Given the description of an element on the screen output the (x, y) to click on. 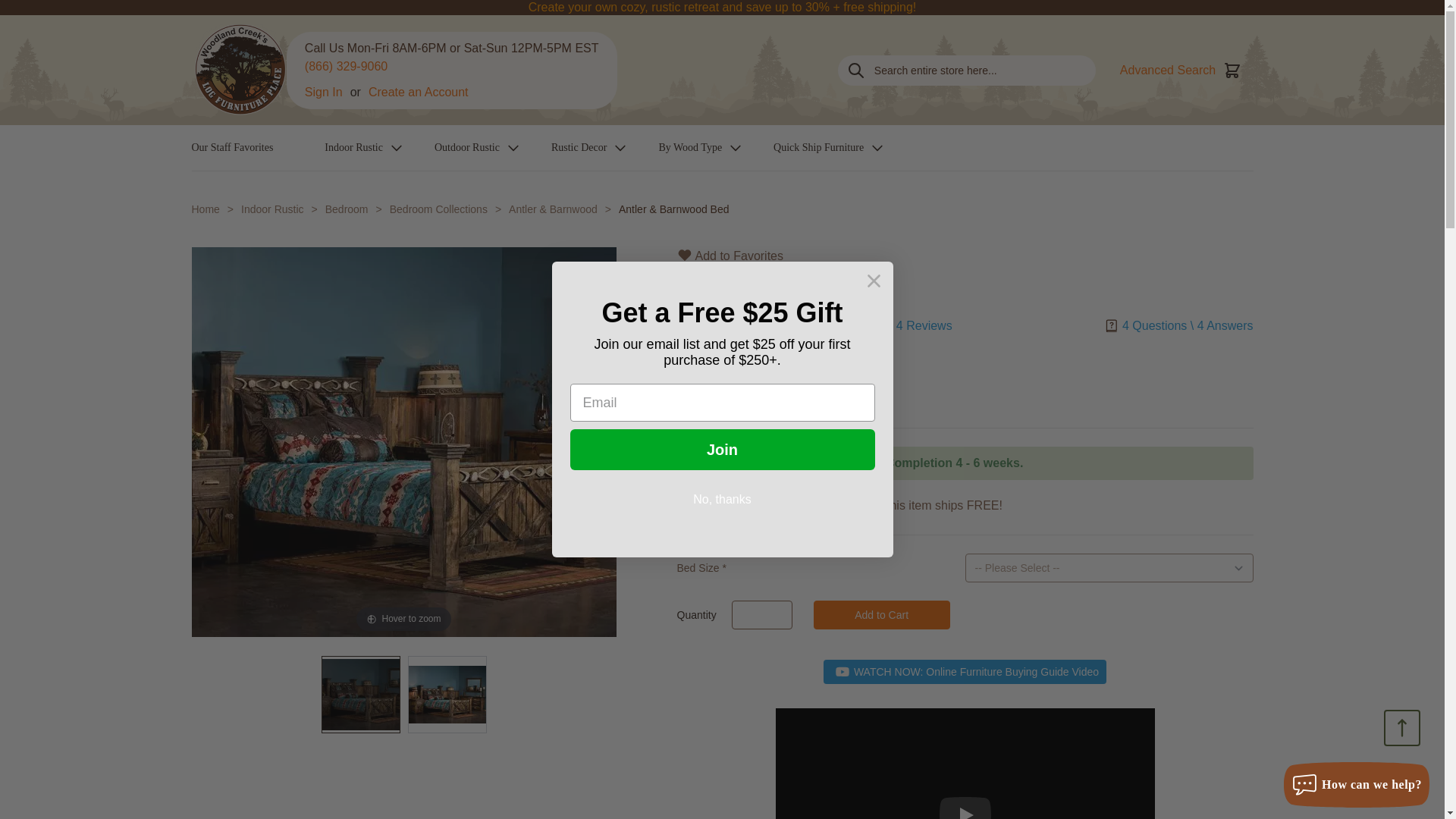
Cart (1231, 69)
Advanced Search (1167, 69)
Close dialog 1 (873, 280)
Woodland Creek's Log Furniture Place (237, 70)
Sign In (323, 92)
Create an Account (418, 92)
Search (855, 69)
